Given the description of an element on the screen output the (x, y) to click on. 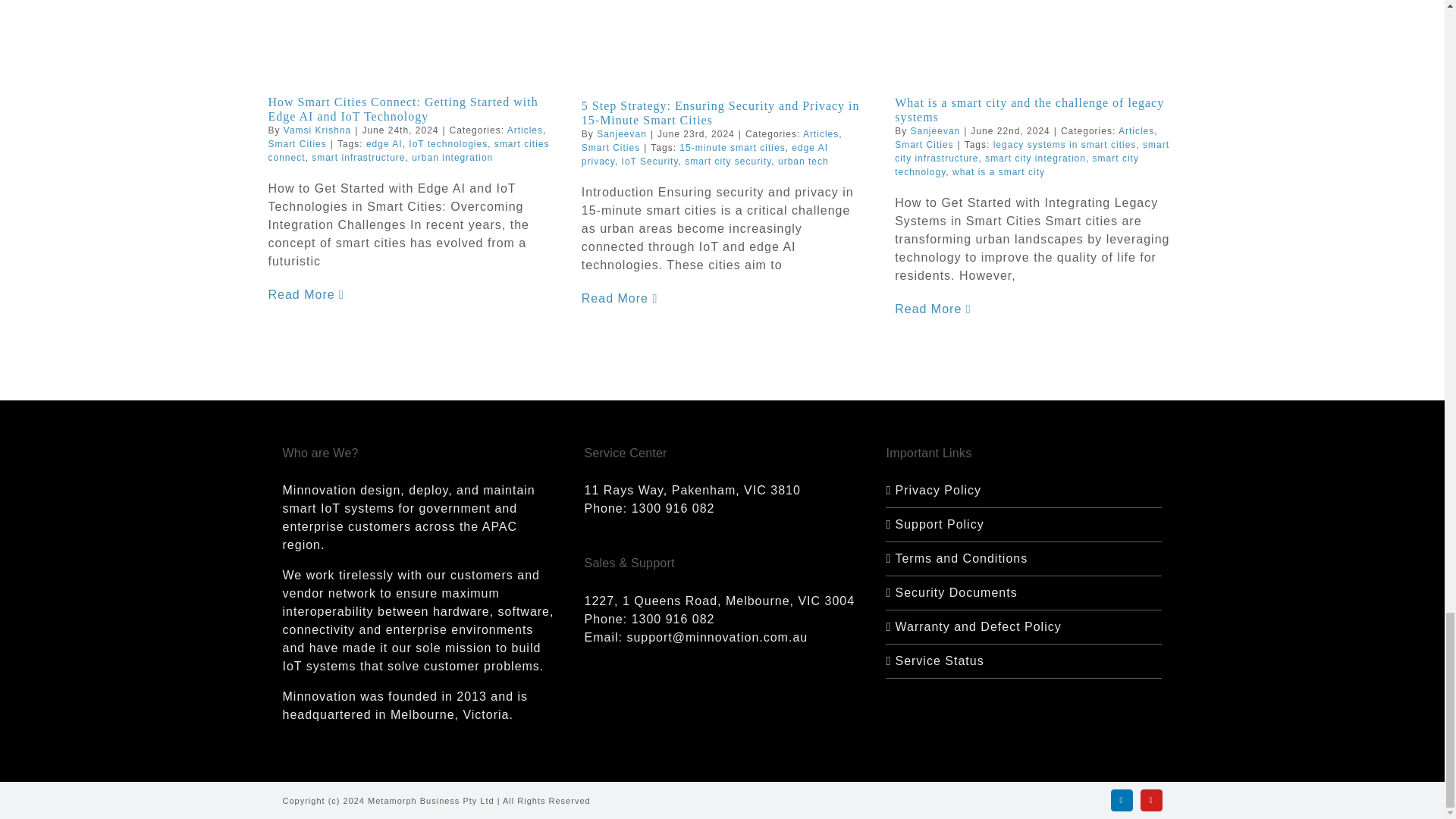
Posts by Sanjeevan (935, 131)
Posts by Sanjeevan (621, 133)
Posts by Vamsi Krishna (316, 130)
LinkedIn (1120, 800)
YouTube (1150, 800)
